Given the description of an element on the screen output the (x, y) to click on. 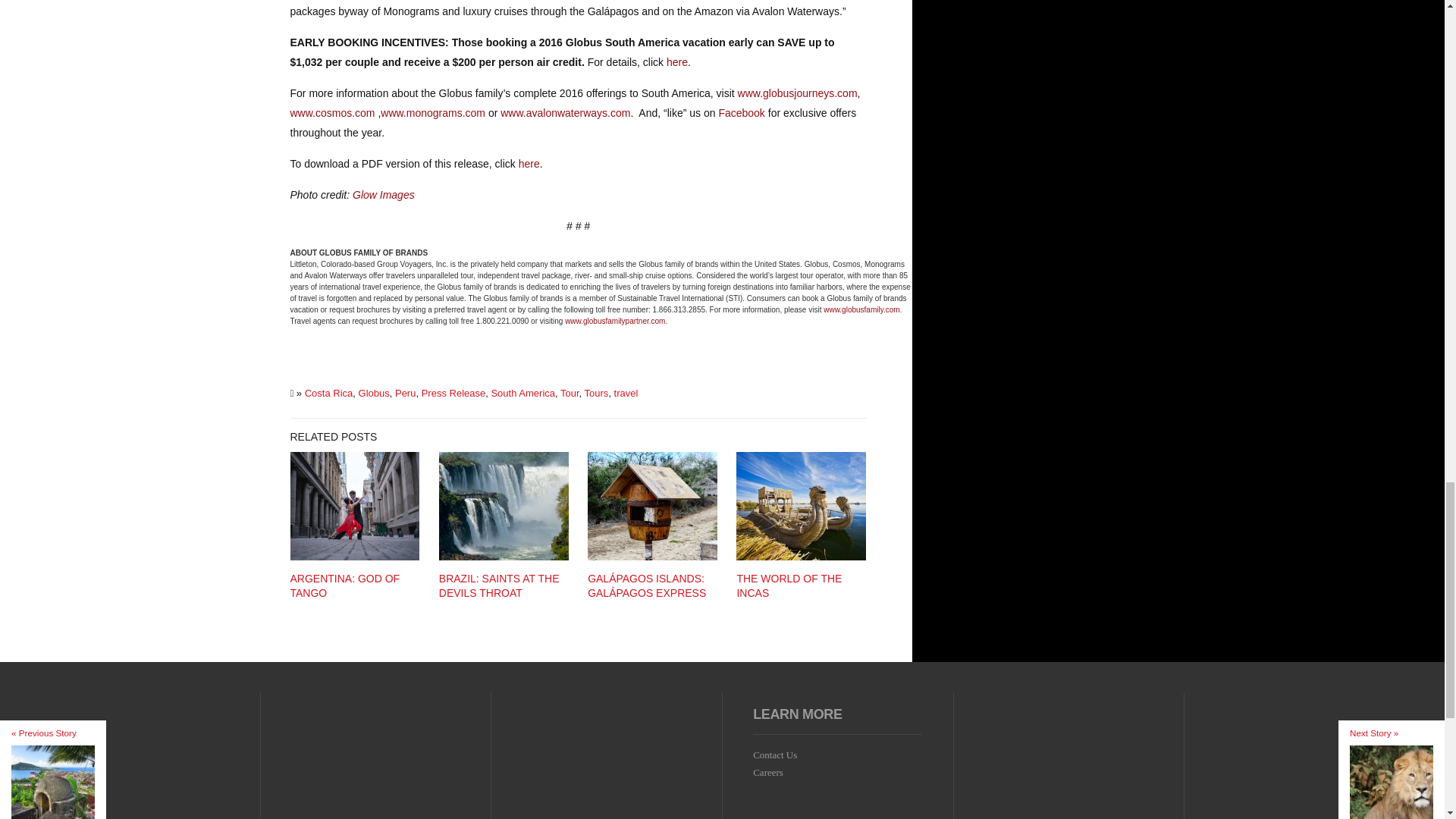
www.avalonwaterways.com (565, 112)
www.cosmos.com (331, 112)
www.globusfamily.com (861, 309)
Facebook (740, 112)
www.globusfamilypartner.com (614, 320)
ARGENTINA: GOD OF TANGO (343, 585)
here (676, 61)
Glow Images (383, 194)
THE WORLD OF THE INCAS (788, 585)
BRAZIL: SAINTS AT THE DEVILS THROAT (499, 585)
